Given the description of an element on the screen output the (x, y) to click on. 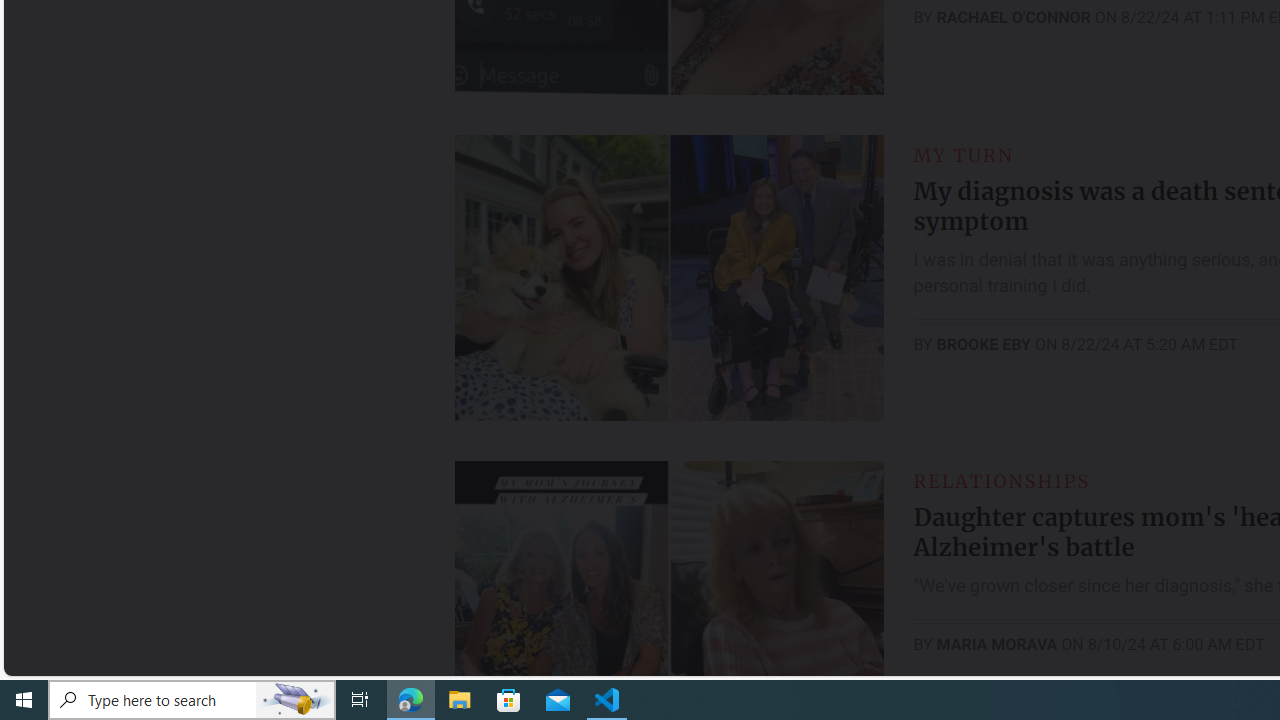
MY TURN (963, 155)
RELATIONSHIPS (1001, 480)
